Given the description of an element on the screen output the (x, y) to click on. 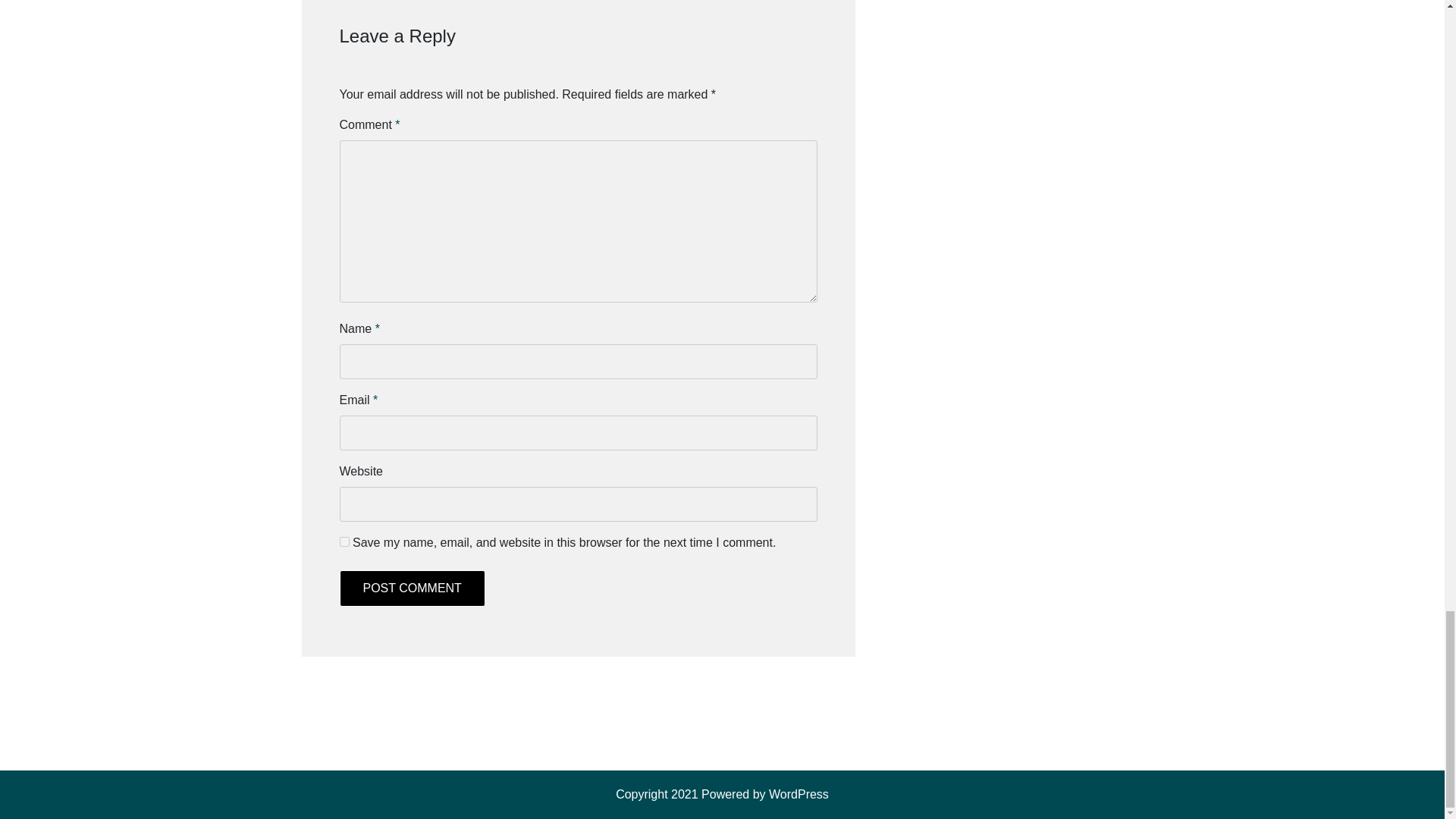
yes (344, 542)
Post Comment (411, 588)
Post Comment (411, 588)
